Given the description of an element on the screen output the (x, y) to click on. 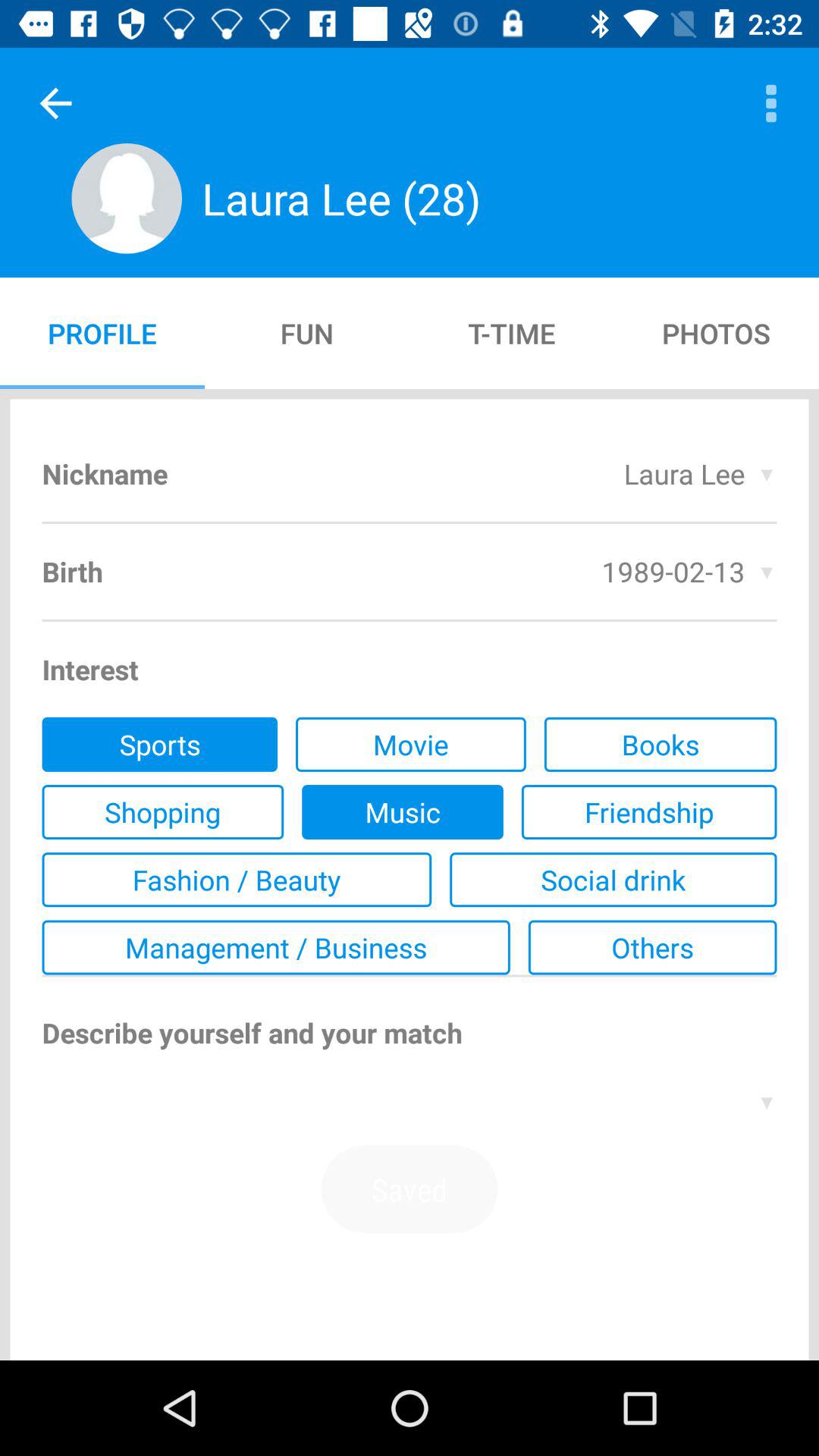
turn on the item above social drink (648, 811)
